Given the description of an element on the screen output the (x, y) to click on. 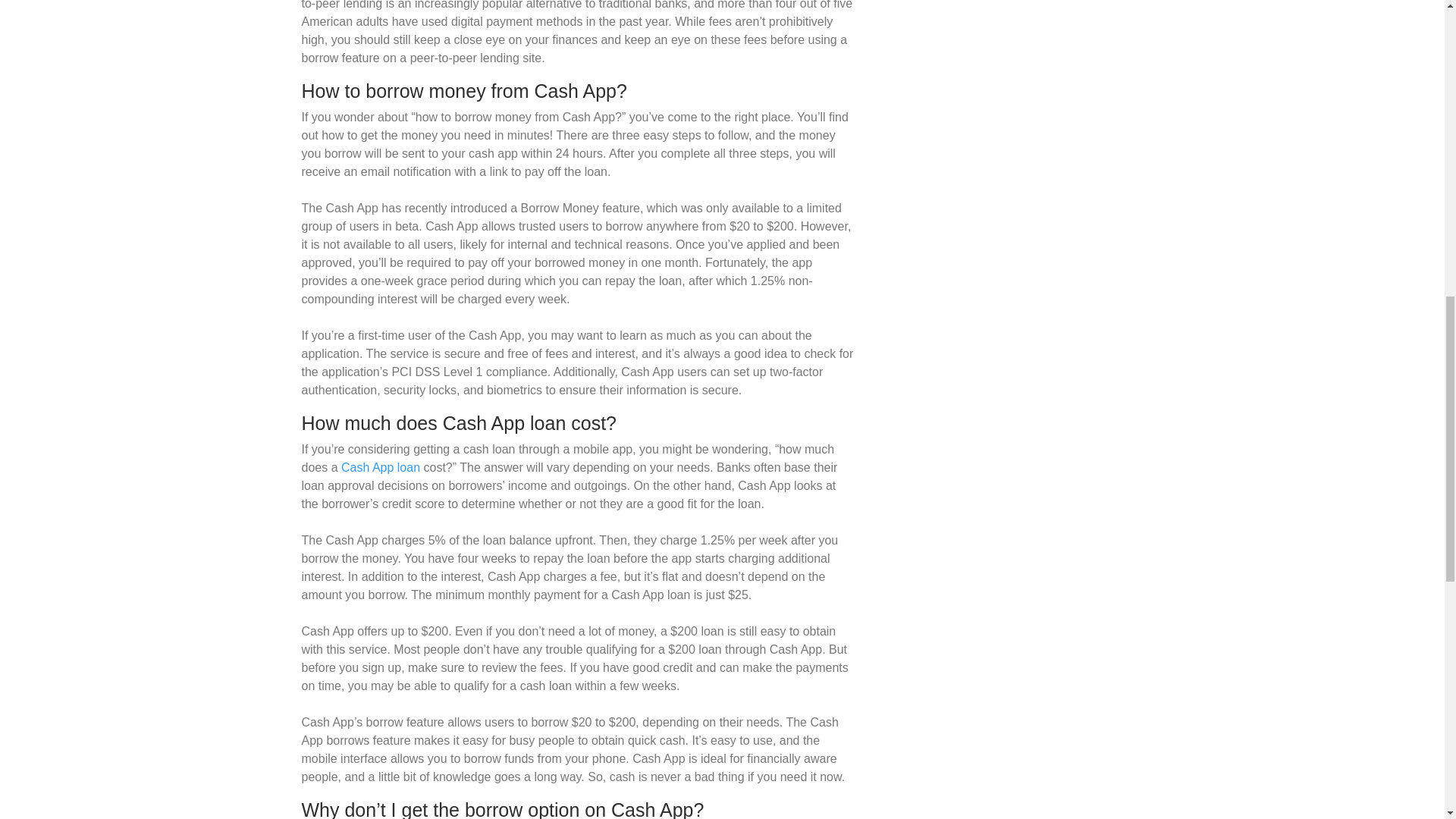
Cash App loan (380, 467)
